Given the description of an element on the screen output the (x, y) to click on. 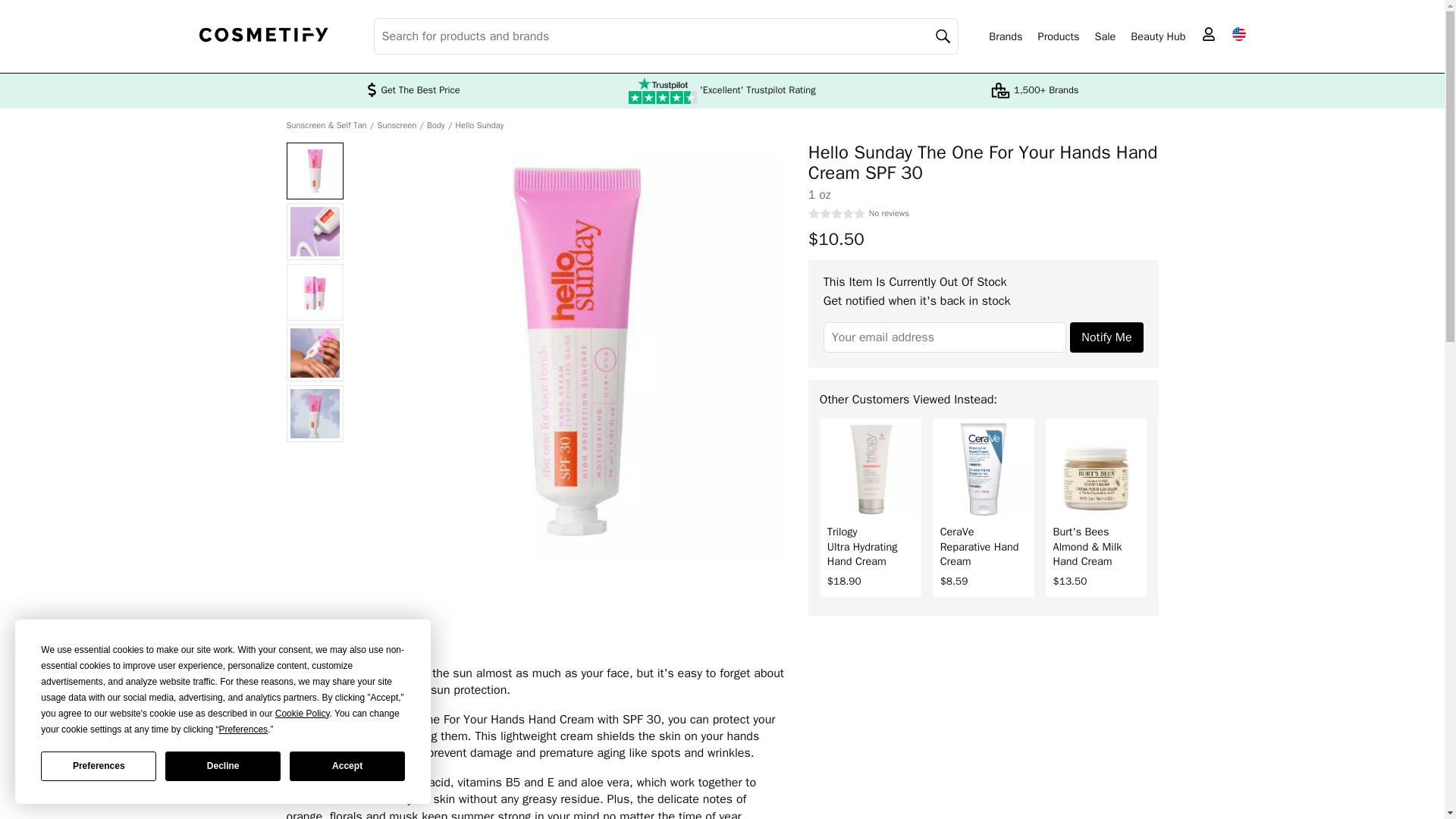
Beauty Hub (1158, 36)
Brands (1005, 36)
Sale (1104, 36)
Accept (346, 766)
Preferences (97, 766)
Decline (223, 766)
Products (1059, 36)
